Given the description of an element on the screen output the (x, y) to click on. 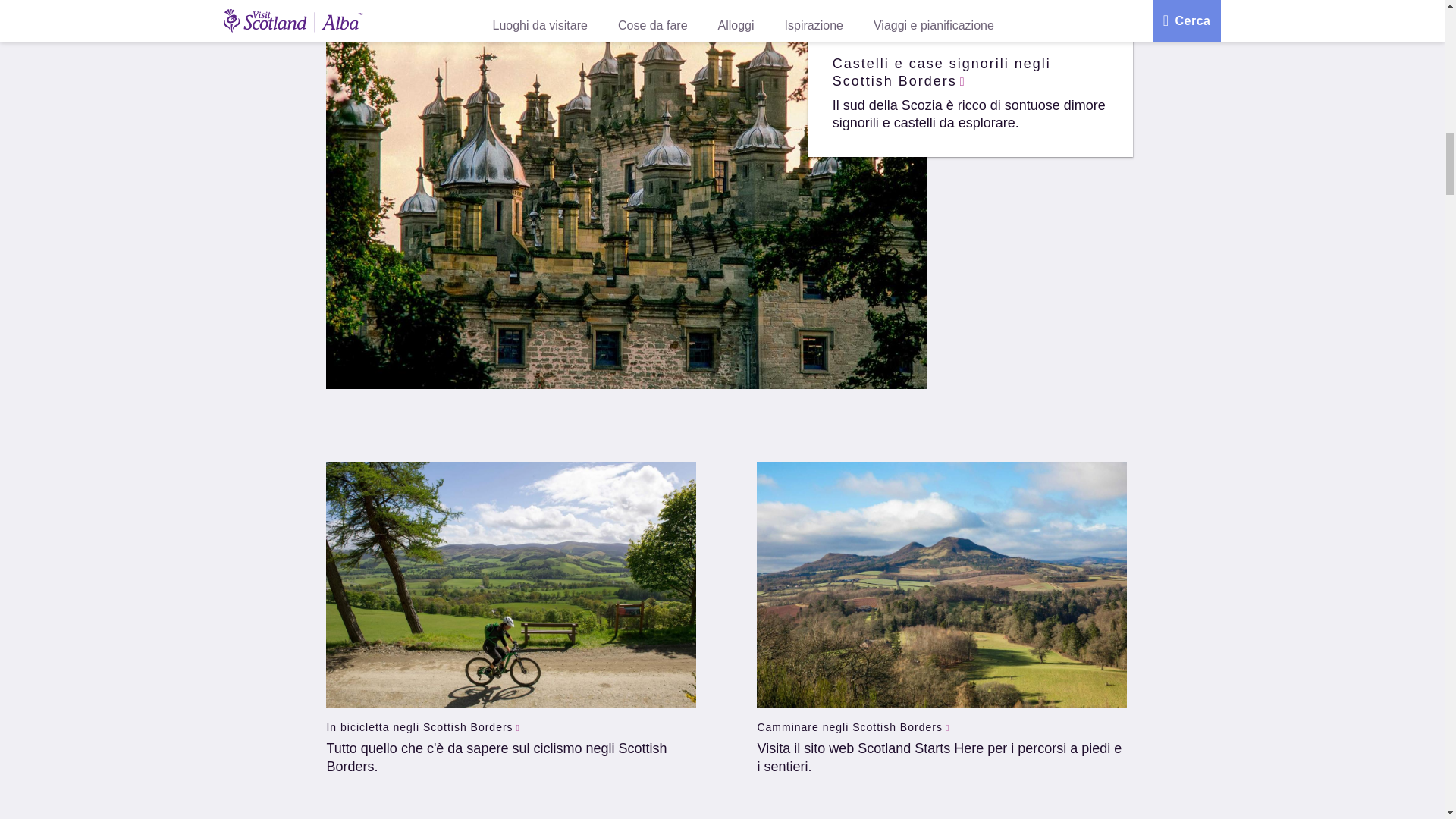
Camminare negli Scottish Borders (853, 726)
Castelli e case signorili negli Scottish Borders (970, 72)
In bicicletta negli Scottish Borders (422, 726)
